Given the description of an element on the screen output the (x, y) to click on. 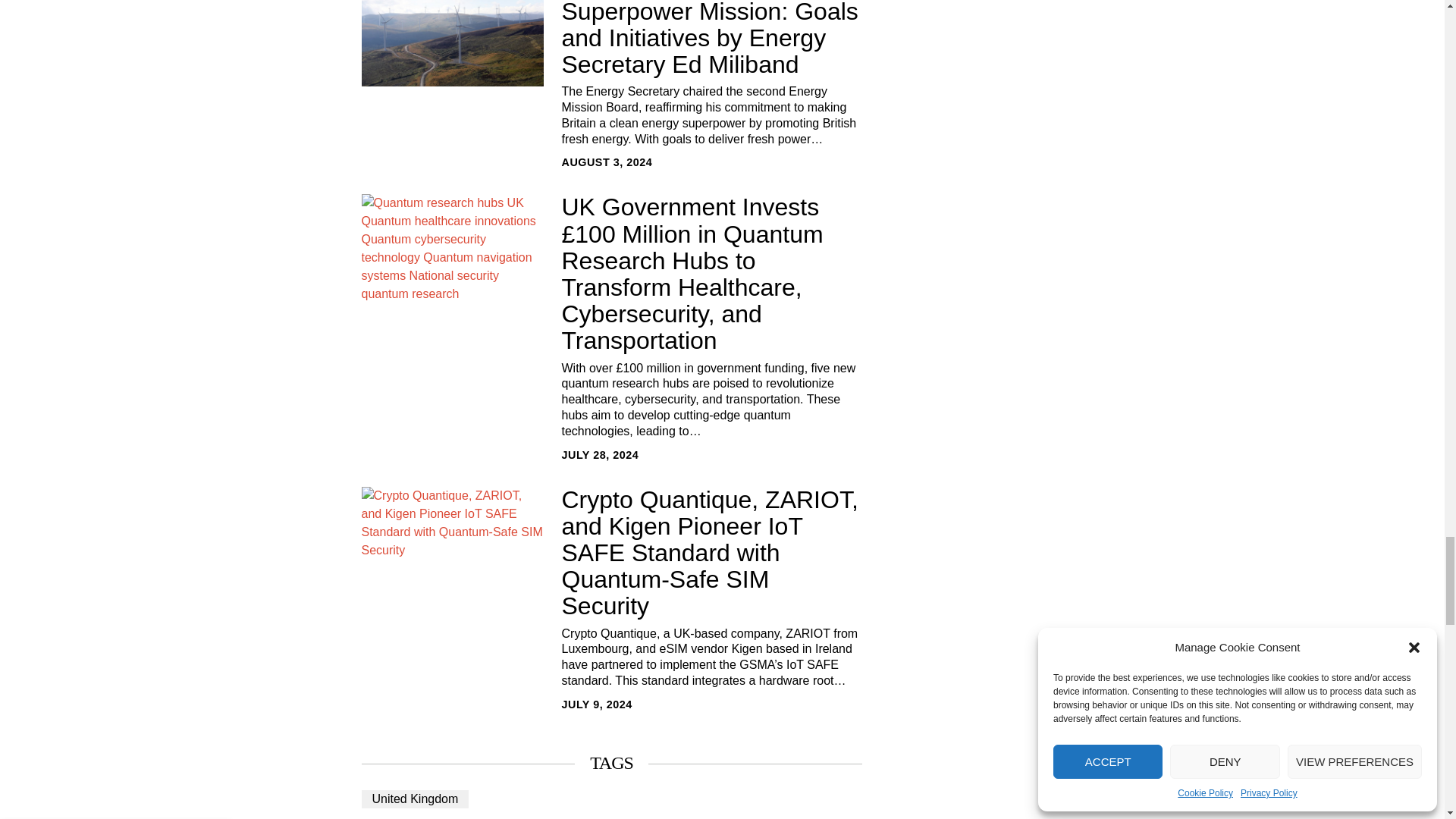
03 Aug, 2024 12:00:40 (606, 161)
28 Jul, 2024 12:00:38 (599, 454)
09 Jul, 2024 12:00:59 (595, 703)
